Given the description of an element on the screen output the (x, y) to click on. 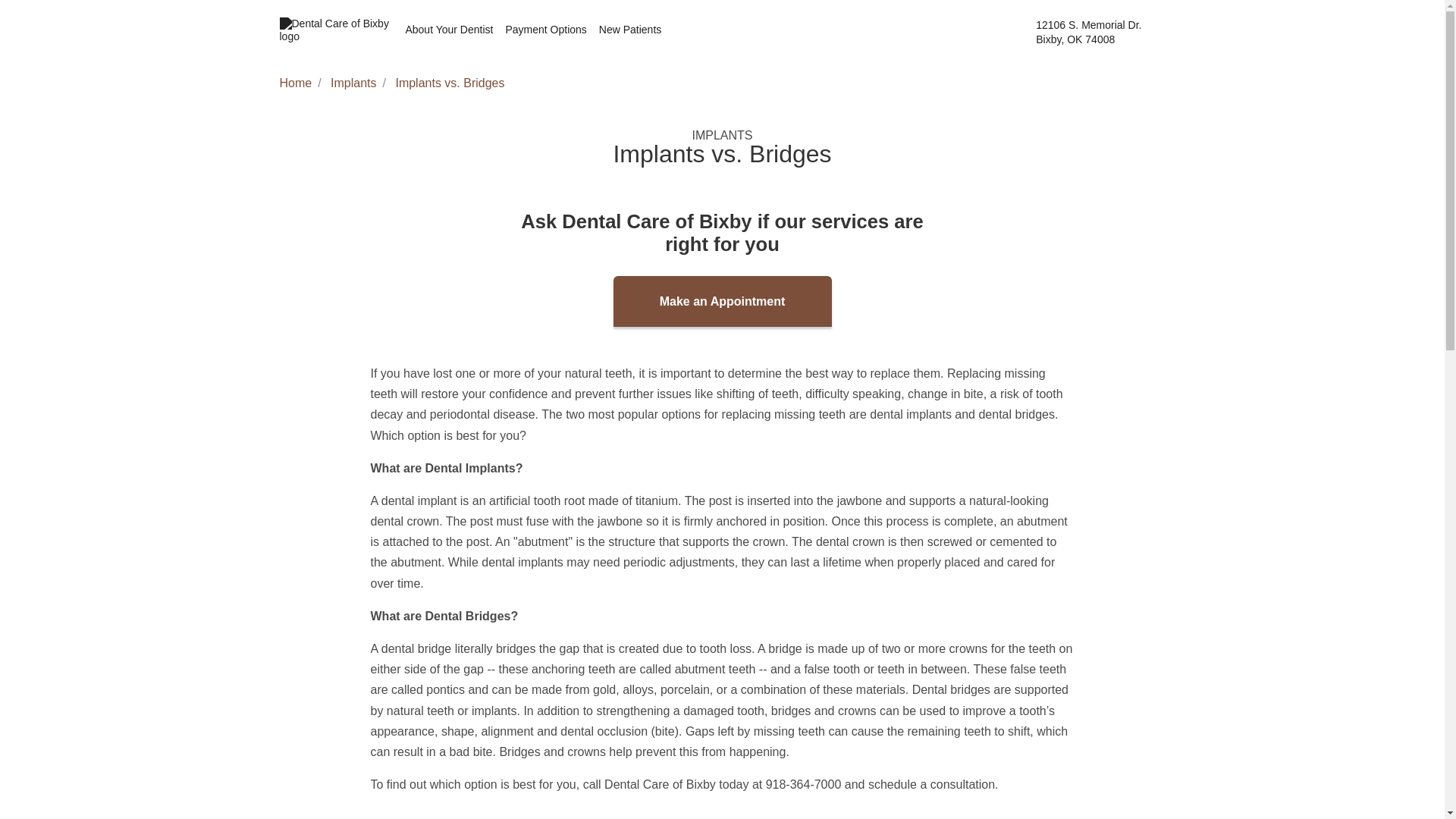
Implants (352, 82)
Implants vs. Bridges (448, 82)
Make an Appointment (721, 301)
Home (295, 82)
New Patients (629, 29)
Payment Options (1099, 31)
About Your Dentist (545, 29)
